Given the description of an element on the screen output the (x, y) to click on. 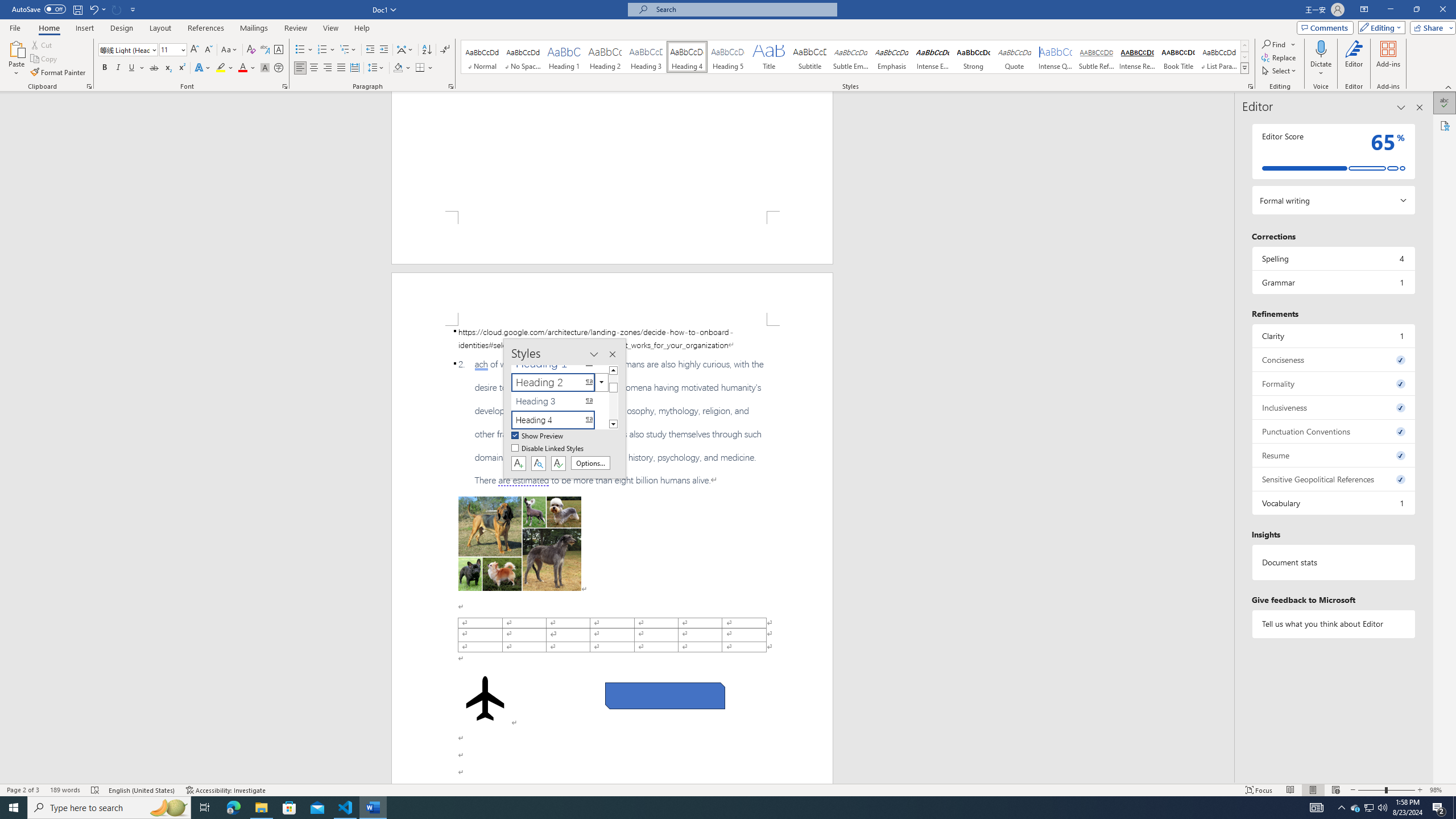
Tell us what you think about Editor (1333, 624)
Can't Repeat (117, 9)
Show Preview (537, 436)
Vocabulary, 1 issue. Press space or enter to review items. (1333, 502)
